Given the description of an element on the screen output the (x, y) to click on. 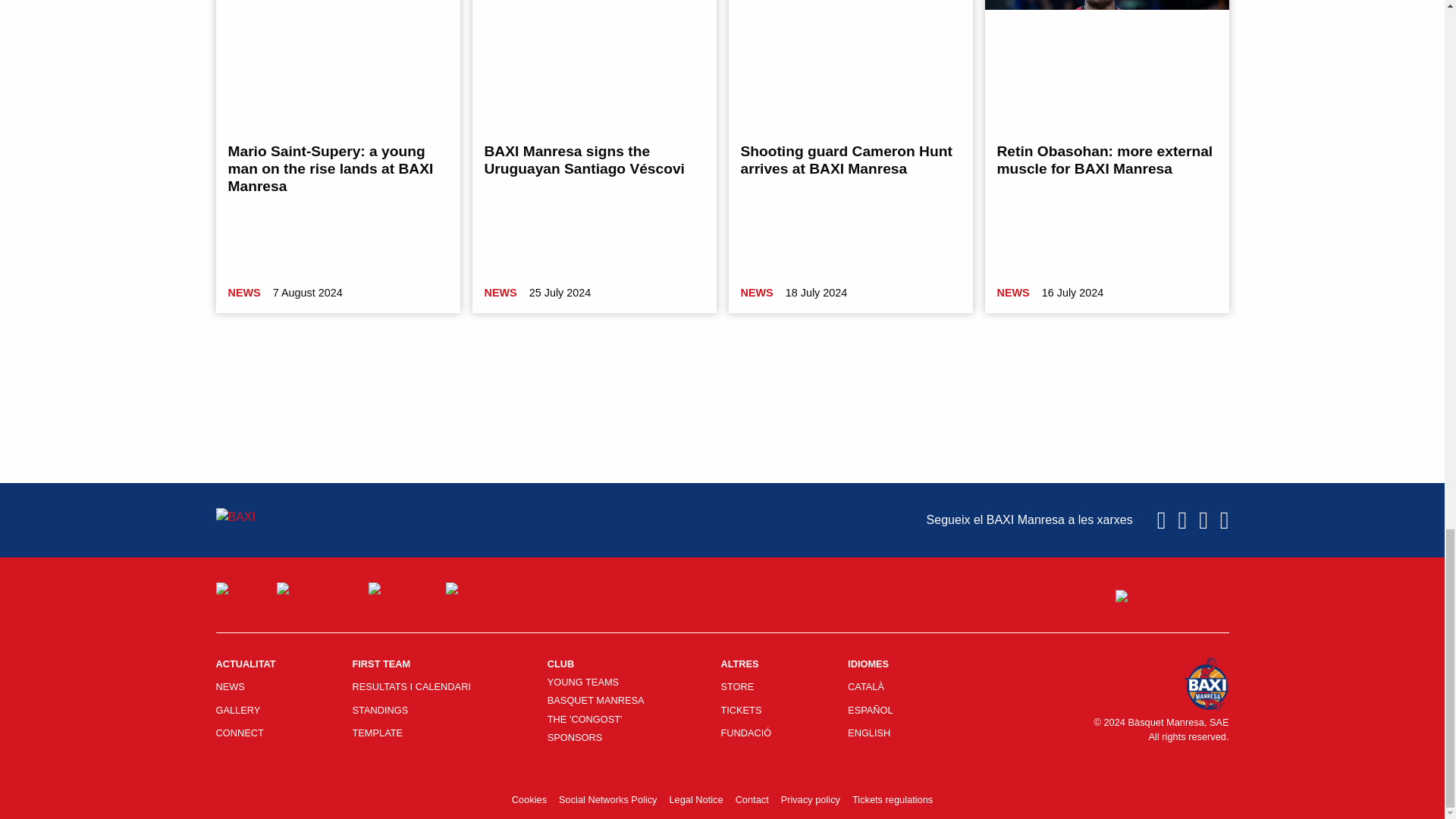
Retin Obasohan: more external muscle for BAXI Manresa (1103, 159)
Adbisio - ETL Global (507, 590)
Shooting guard Cameron Hunt arrives at BAXI Manresa (845, 159)
Retin Obasohan: more external muscle for BAXI Manresa (1106, 65)
CaixaBank (403, 590)
Control group (319, 590)
Shooting guard Cameron Hunt arrives at BAXI Manresa (850, 65)
Aquaflix (242, 590)
